Given the description of an element on the screen output the (x, y) to click on. 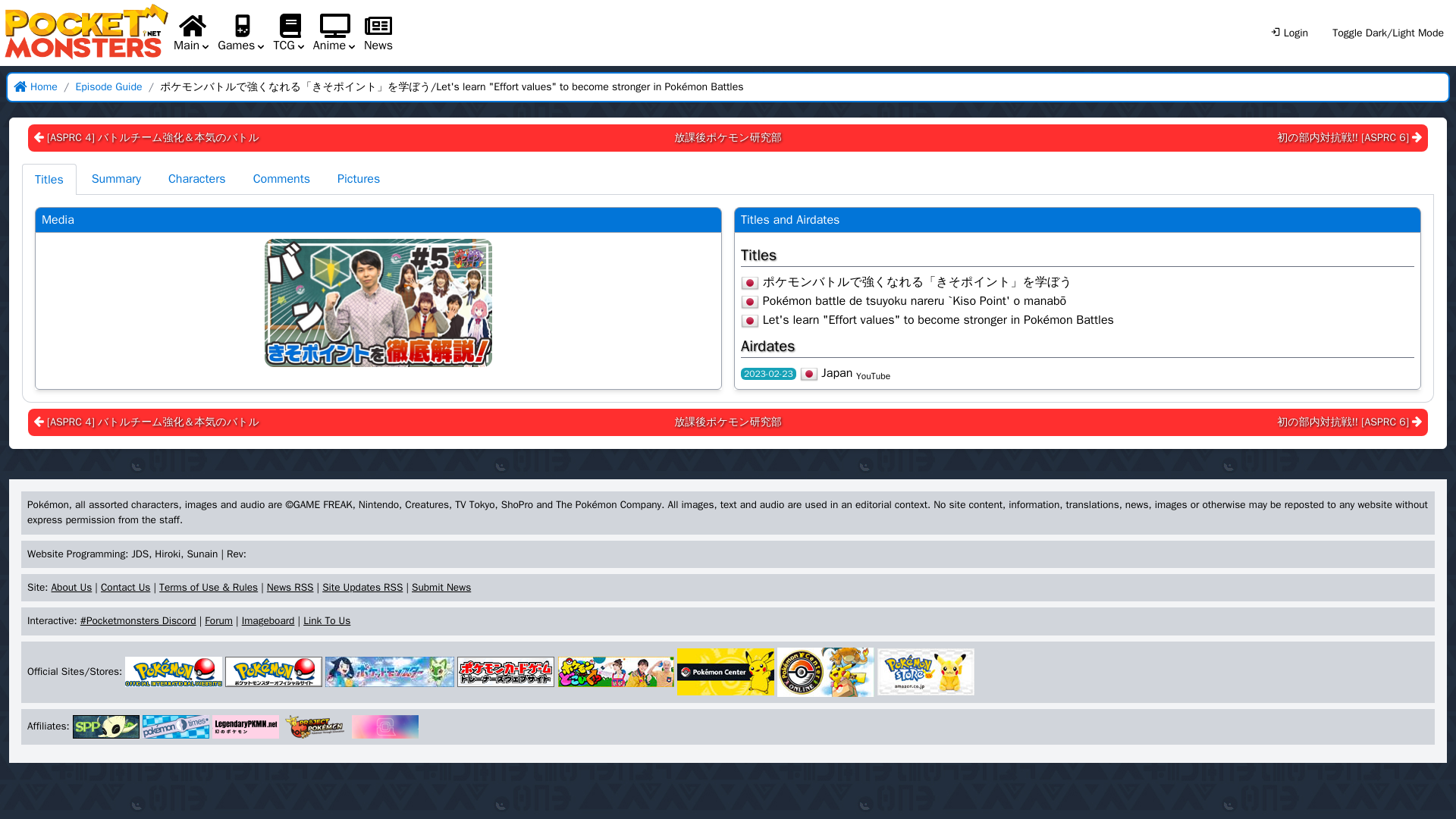
Games (241, 33)
Japan (749, 321)
Login (1288, 32)
Japan (749, 282)
News (378, 45)
Anime (335, 33)
Japan (808, 373)
Japan (749, 301)
Main (192, 33)
